Given the description of an element on the screen output the (x, y) to click on. 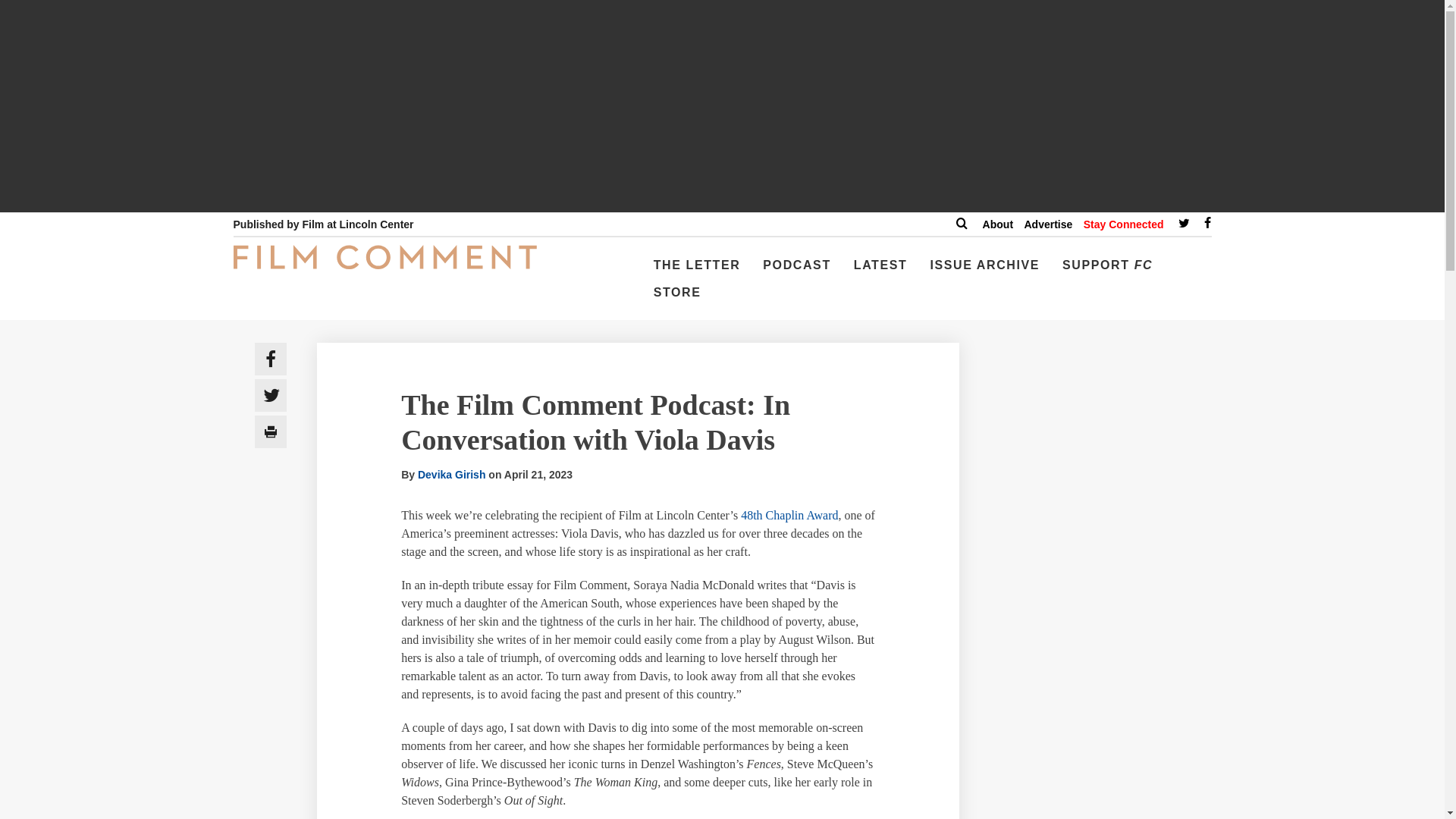
PODCAST (796, 271)
Devika Girish (451, 474)
Advertise (1047, 224)
48th Chaplin Award (789, 514)
SUPPORT FC (1107, 271)
Published by Film at Lincoln Center (322, 224)
3rd party ad content (1103, 785)
3rd party ad content (1103, 642)
Stay Connected (1123, 224)
About (997, 224)
LATEST (880, 271)
THE LETTER (697, 271)
ISSUE ARCHIVE (983, 271)
STORE (677, 298)
